Given the description of an element on the screen output the (x, y) to click on. 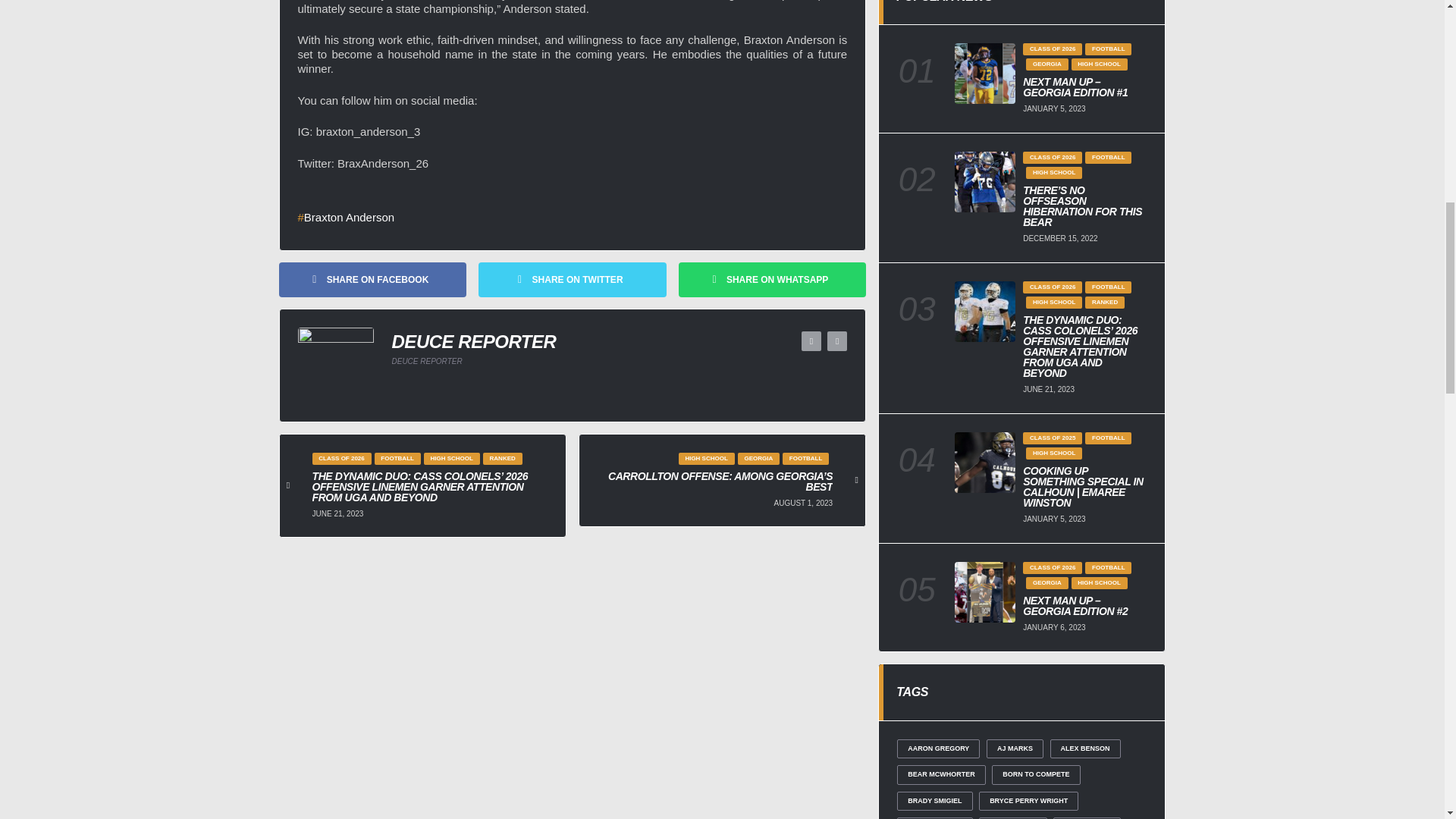
SHARE ON TWITTER (572, 279)
SHARE ON WHATSAPP (772, 279)
Braxton Anderson (345, 216)
SHARE ON FACEBOOK (373, 279)
